Given the description of an element on the screen output the (x, y) to click on. 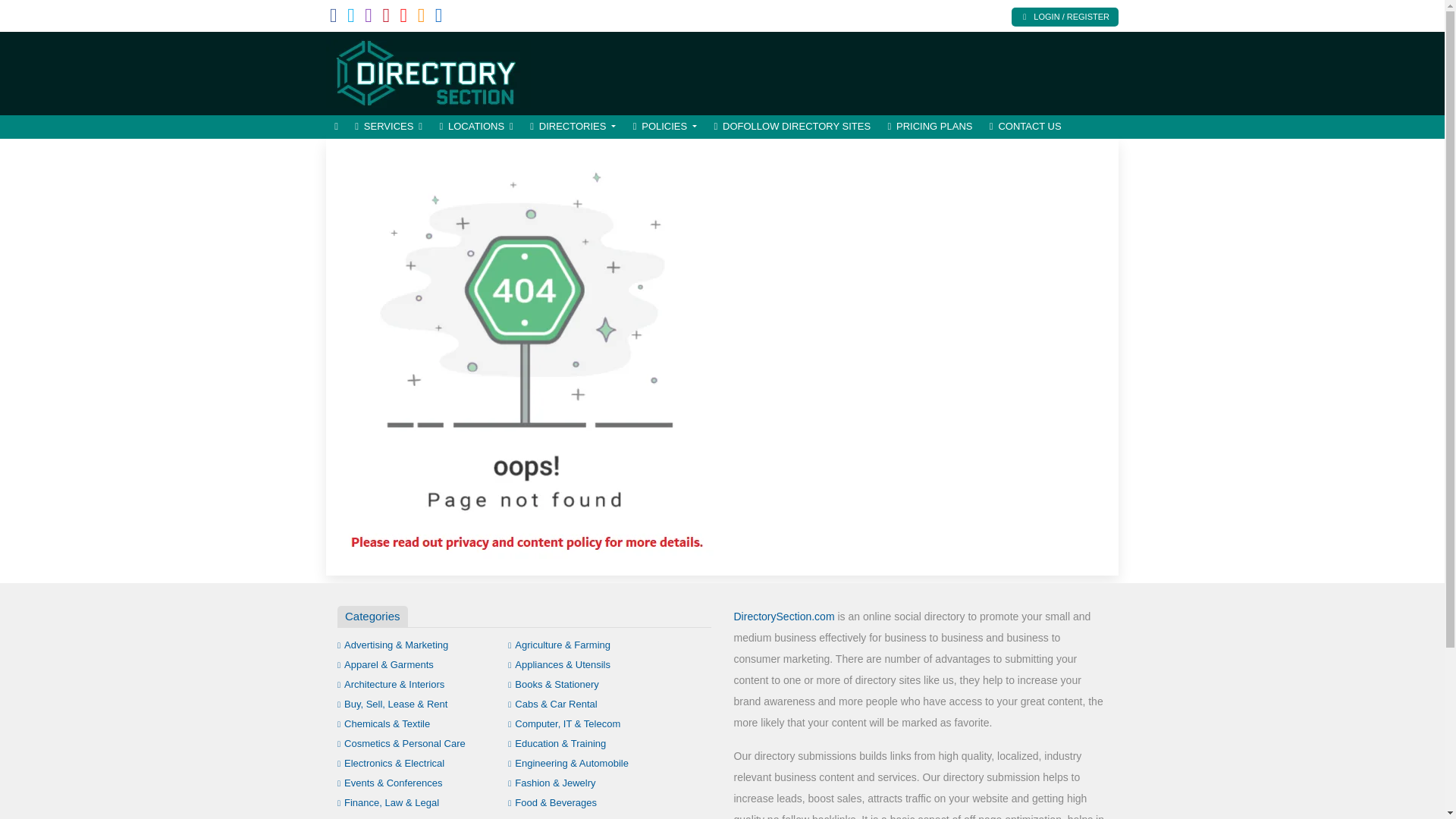
Online Business Directory to Promote Product and Services (428, 71)
SERVICES (388, 126)
LOCATIONS (475, 126)
